Given the description of an element on the screen output the (x, y) to click on. 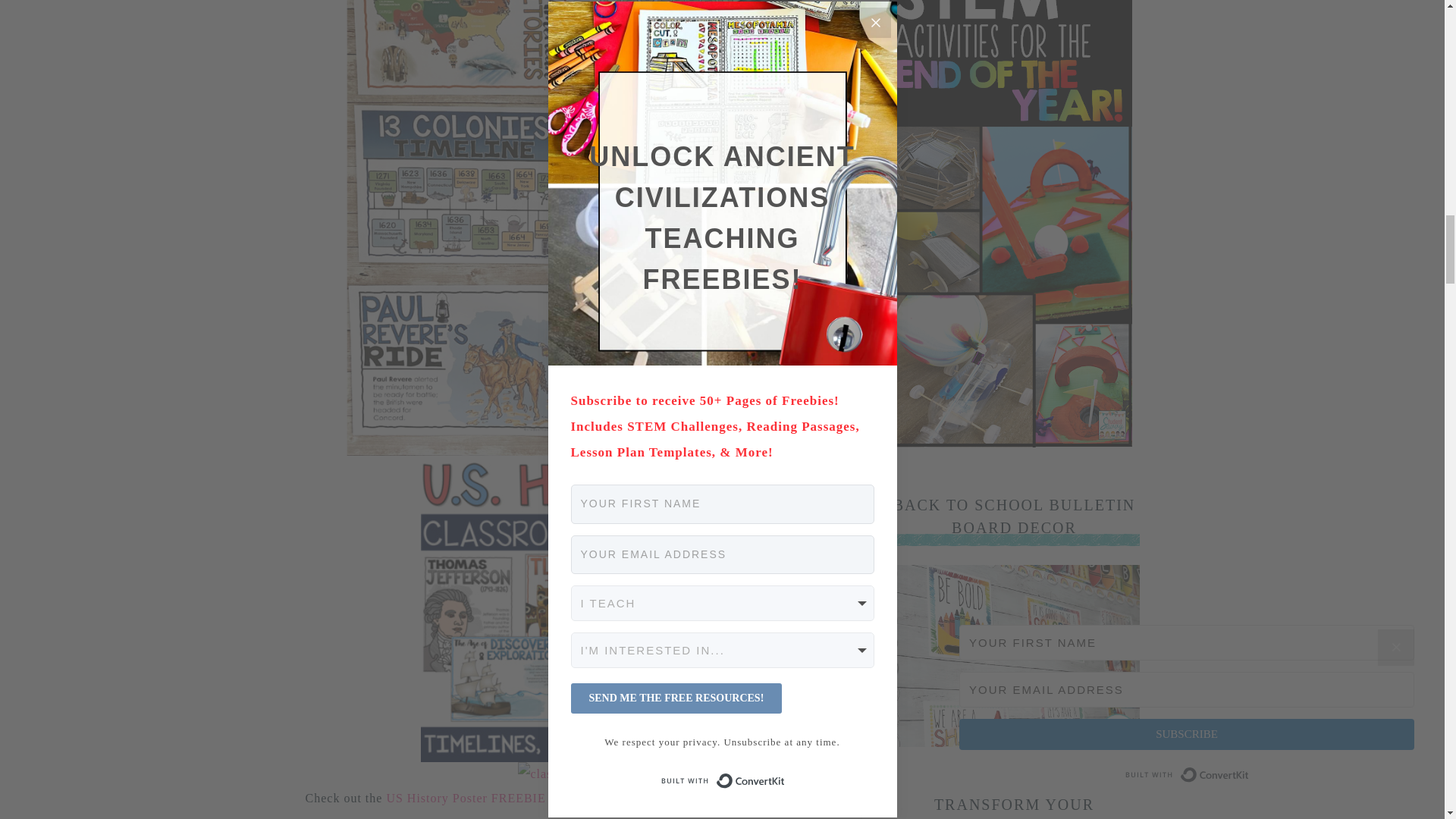
End of the Year STEM Activities  (1009, 442)
Back to School Bulletin Board Decor (1013, 742)
